Given the description of an element on the screen output the (x, y) to click on. 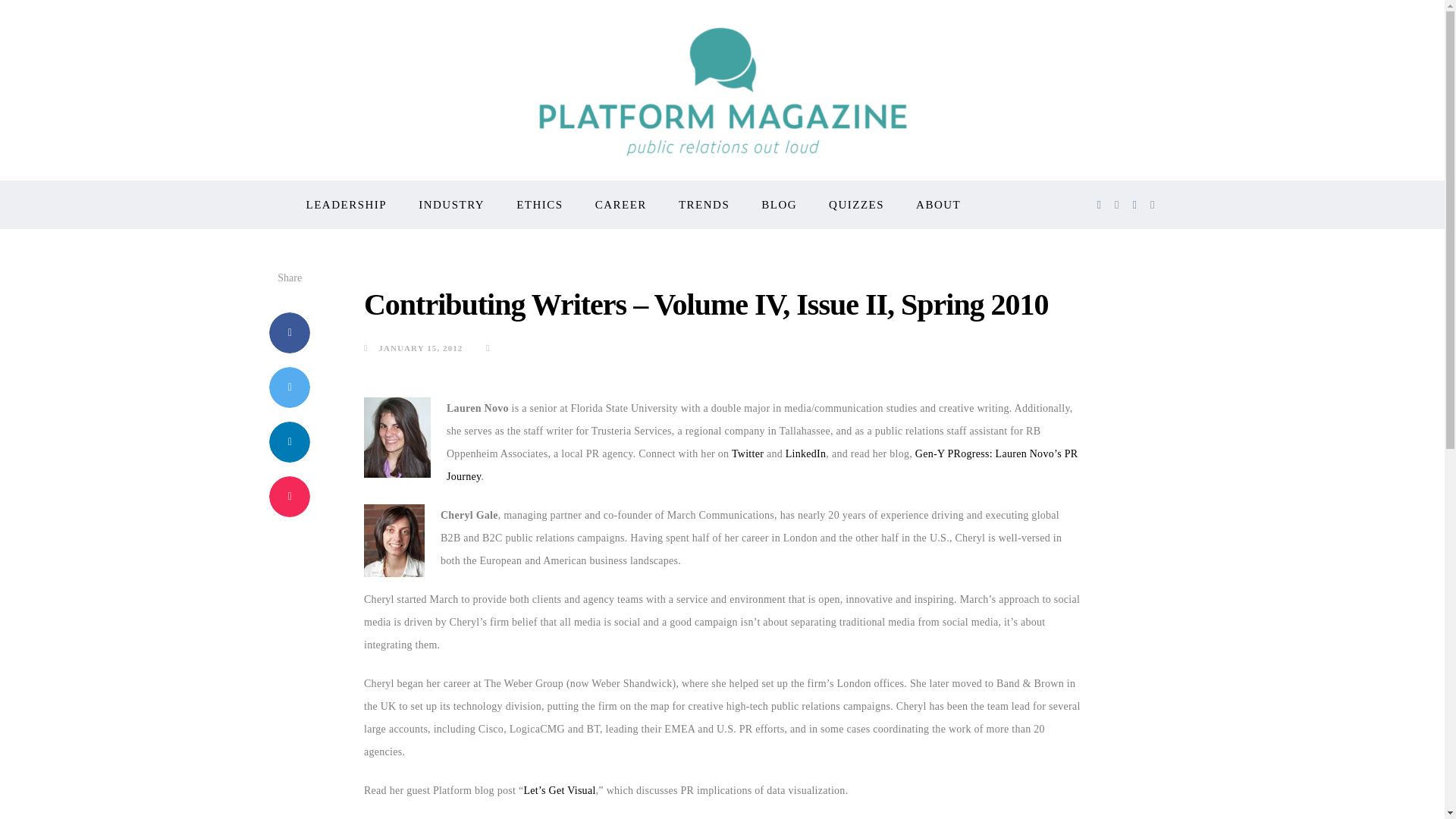
LEADERSHIP (346, 204)
Posts by  (491, 347)
CAREER (620, 204)
LinkedIn (806, 453)
Send this article to a friend! (289, 495)
JANUARY 15, 2012 (413, 347)
QUIZZES (855, 204)
ETHICS (539, 204)
INDUSTRY (451, 204)
Twitter (747, 453)
